Given the description of an element on the screen output the (x, y) to click on. 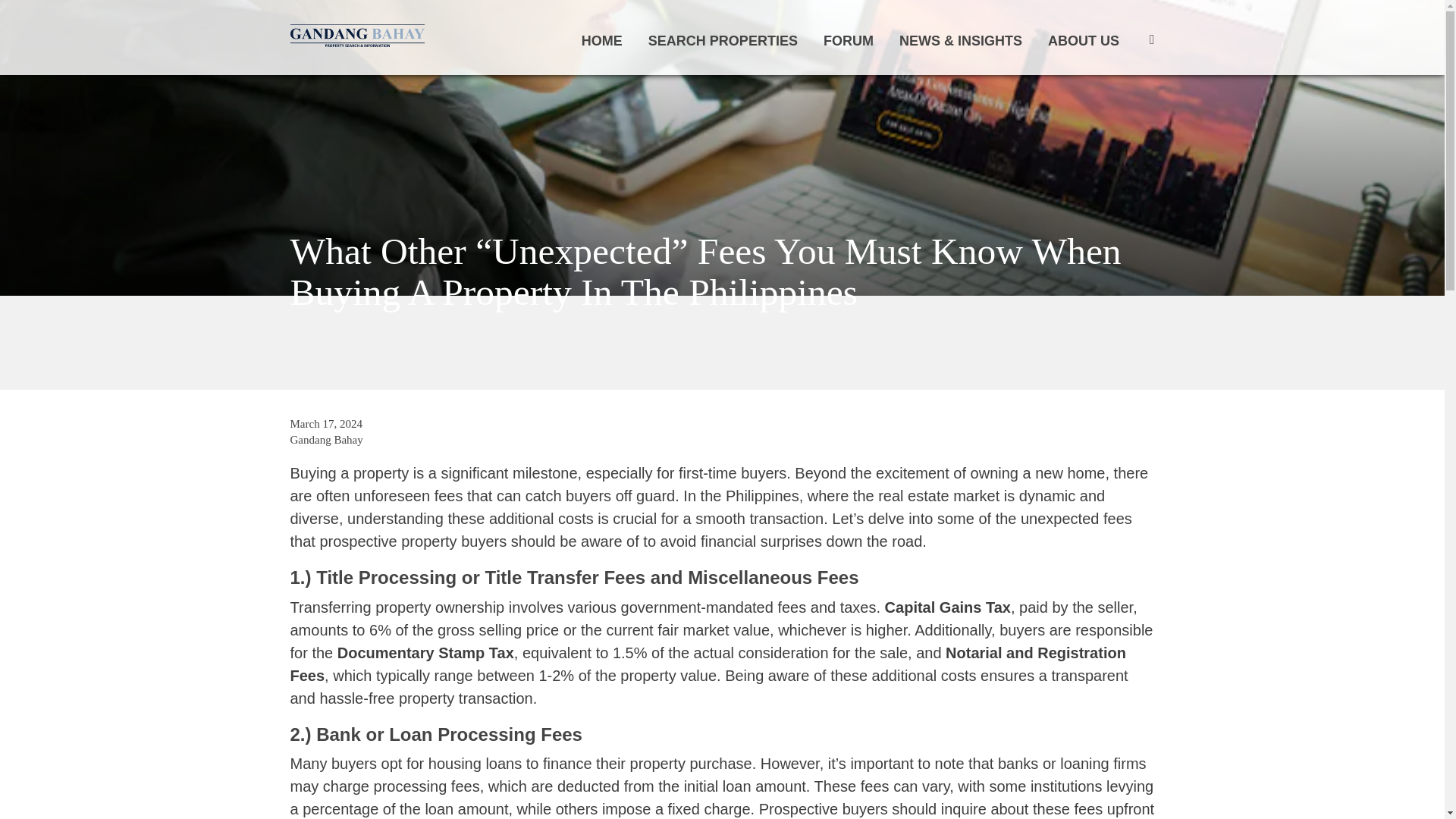
Posts by Gandang Bahay (325, 439)
SEARCH PROPERTIES (722, 40)
FORUM (848, 40)
HOME (601, 40)
ABOUT US (1083, 40)
Gandang Bahay (325, 439)
Advertisement (721, 341)
